Given the description of an element on the screen output the (x, y) to click on. 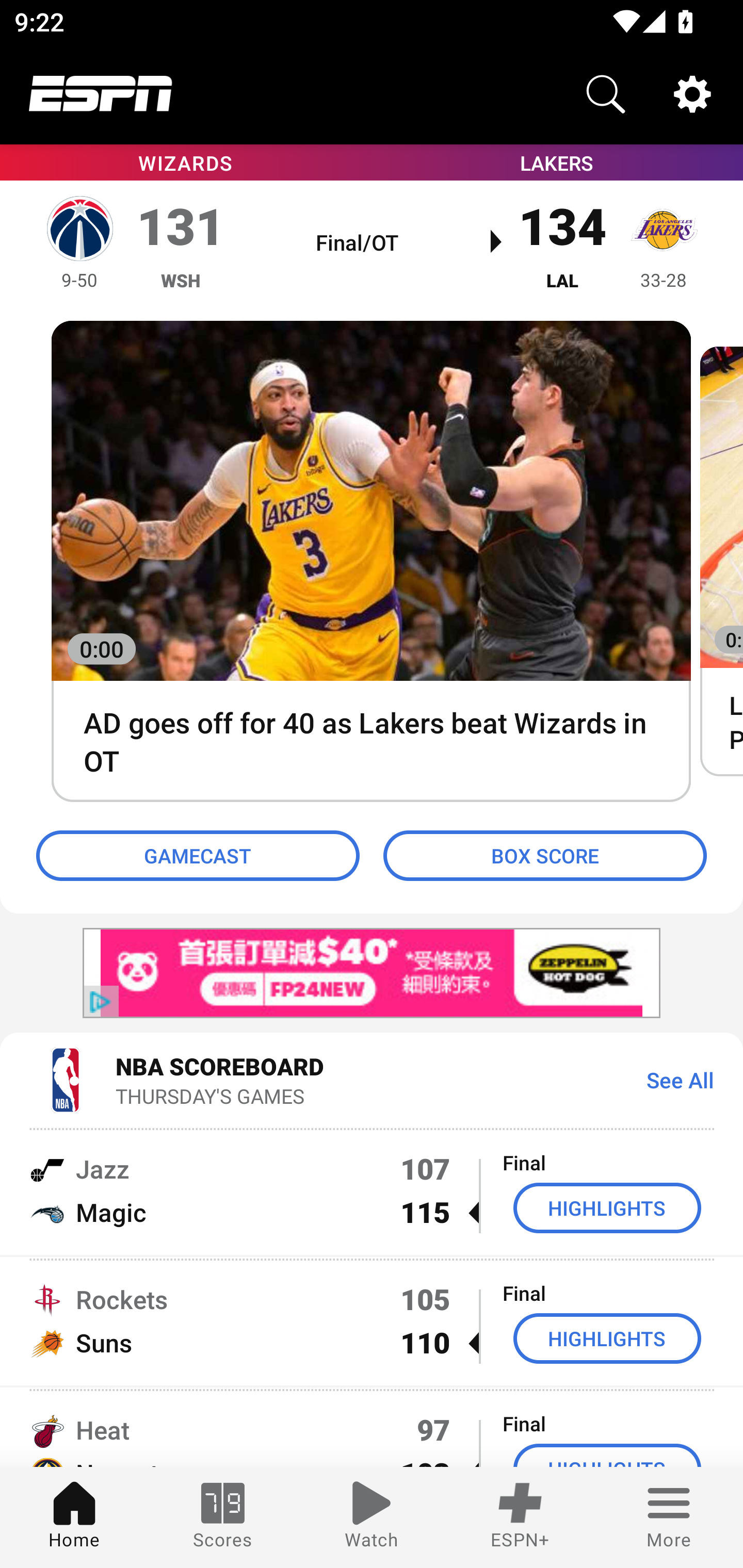
Search (605, 93)
Settings (692, 93)
GAMECAST (197, 856)
BOX SCORE (544, 856)
NBA SCOREBOARD THURSDAY'S GAMES See All (371, 1079)
Jazz 107 Final Magic 115  HIGHLIGHTS (371, 1189)
HIGHLIGHTS (607, 1208)
Rockets 105 Final Suns 110  HIGHLIGHTS (371, 1321)
HIGHLIGHTS (607, 1338)
Heat 97 Final Nuggets 103  HIGHLIGHTS (371, 1427)
Scores (222, 1517)
Watch (371, 1517)
ESPN+ (519, 1517)
More (668, 1517)
